Given the description of an element on the screen output the (x, y) to click on. 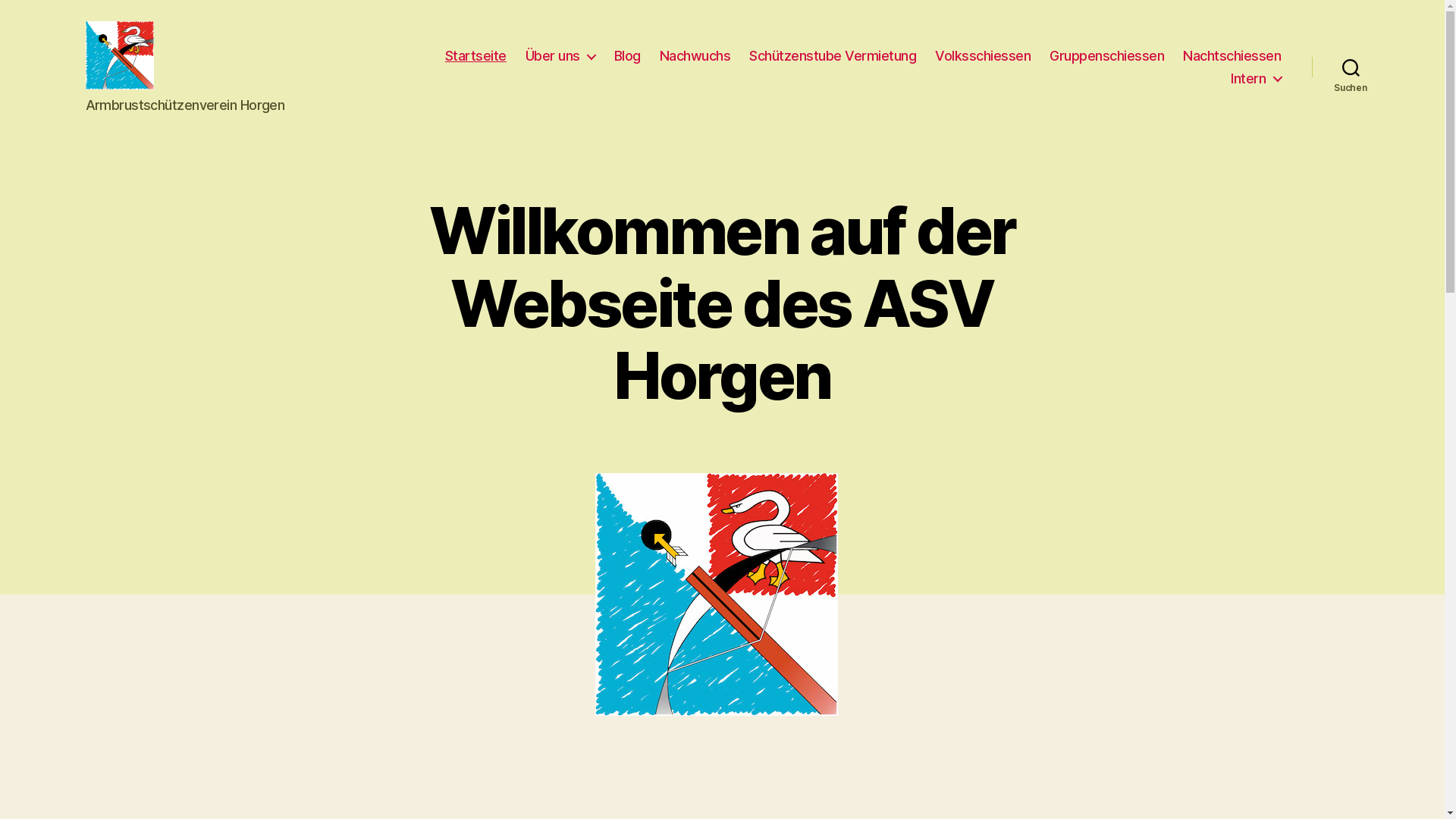
Suchen Element type: text (1350, 66)
Nachtschiessen Element type: text (1231, 55)
Intern Element type: text (1255, 77)
Nachwuchs Element type: text (695, 55)
Gruppenschiessen Element type: text (1106, 55)
Startseite Element type: text (475, 55)
Volksschiessen Element type: text (982, 55)
Blog Element type: text (627, 55)
